Given the description of an element on the screen output the (x, y) to click on. 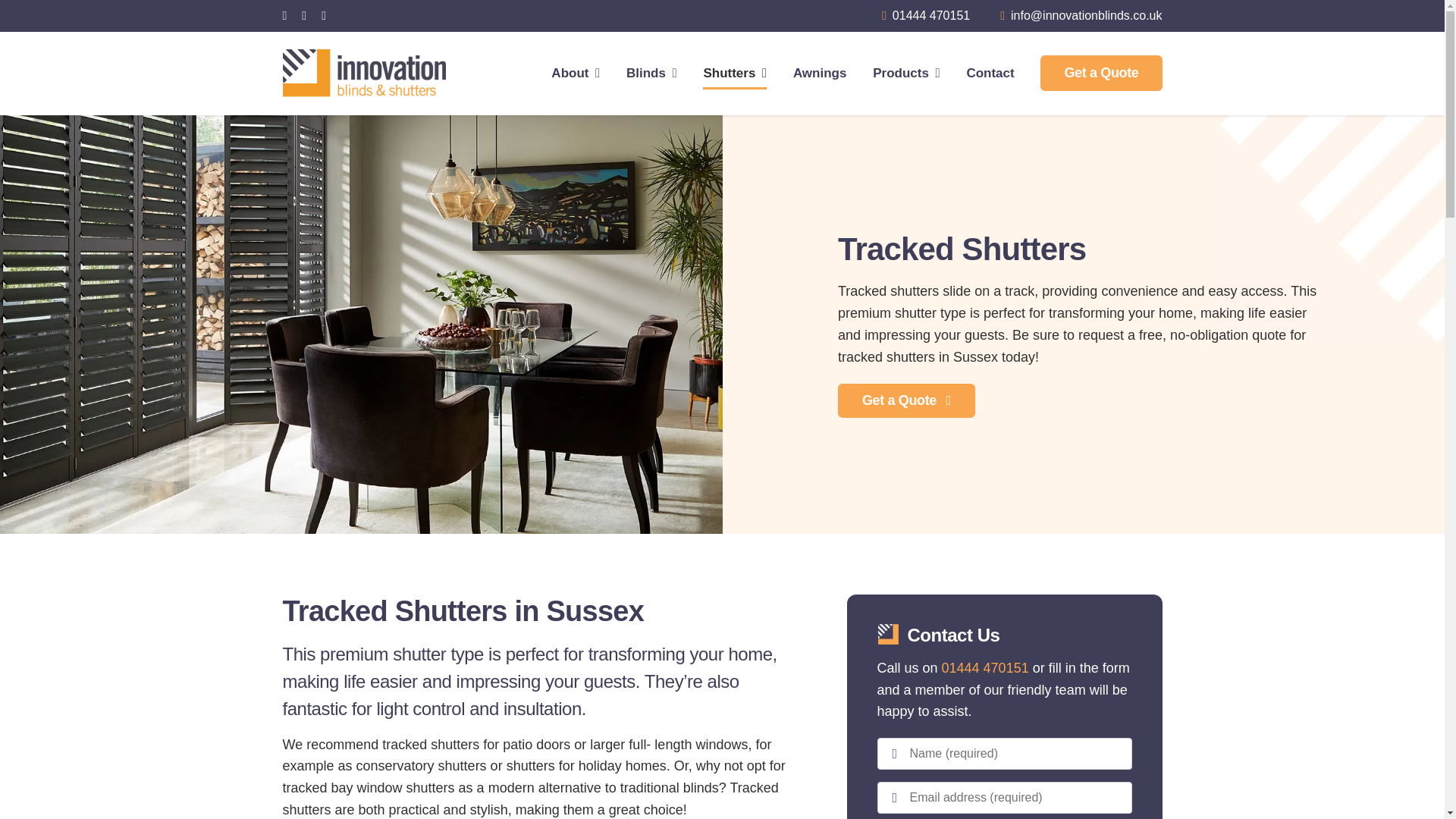
Blinds (651, 72)
About (575, 72)
Shutters (735, 72)
01444 470151 (930, 15)
